Given the description of an element on the screen output the (x, y) to click on. 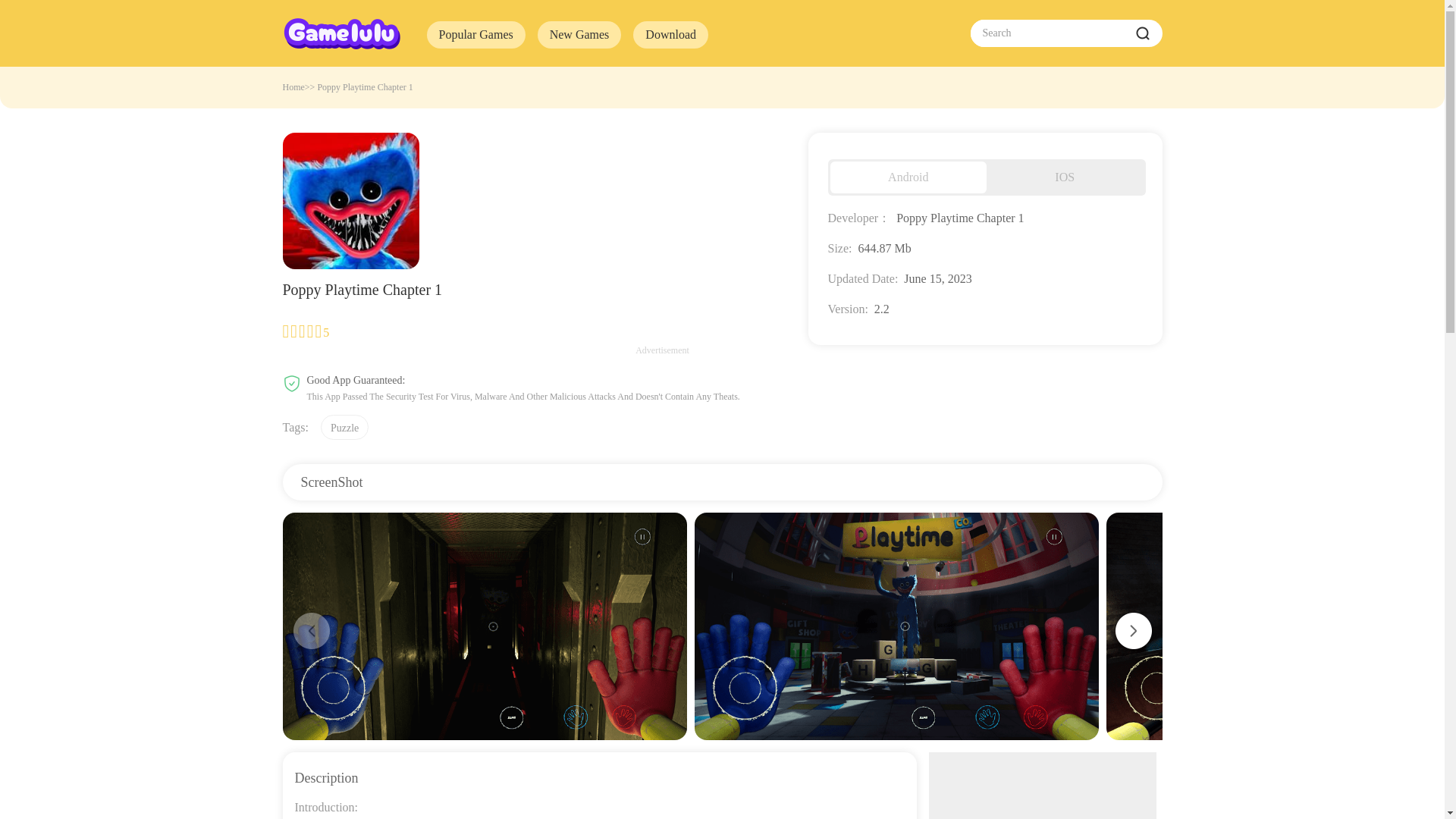
Popular Games (475, 34)
IOS (1064, 177)
Android (908, 177)
Home (293, 86)
Puzzle (344, 426)
Poppy Playtime Chapter 1 (364, 86)
New Games (579, 34)
Download (670, 34)
